Given the description of an element on the screen output the (x, y) to click on. 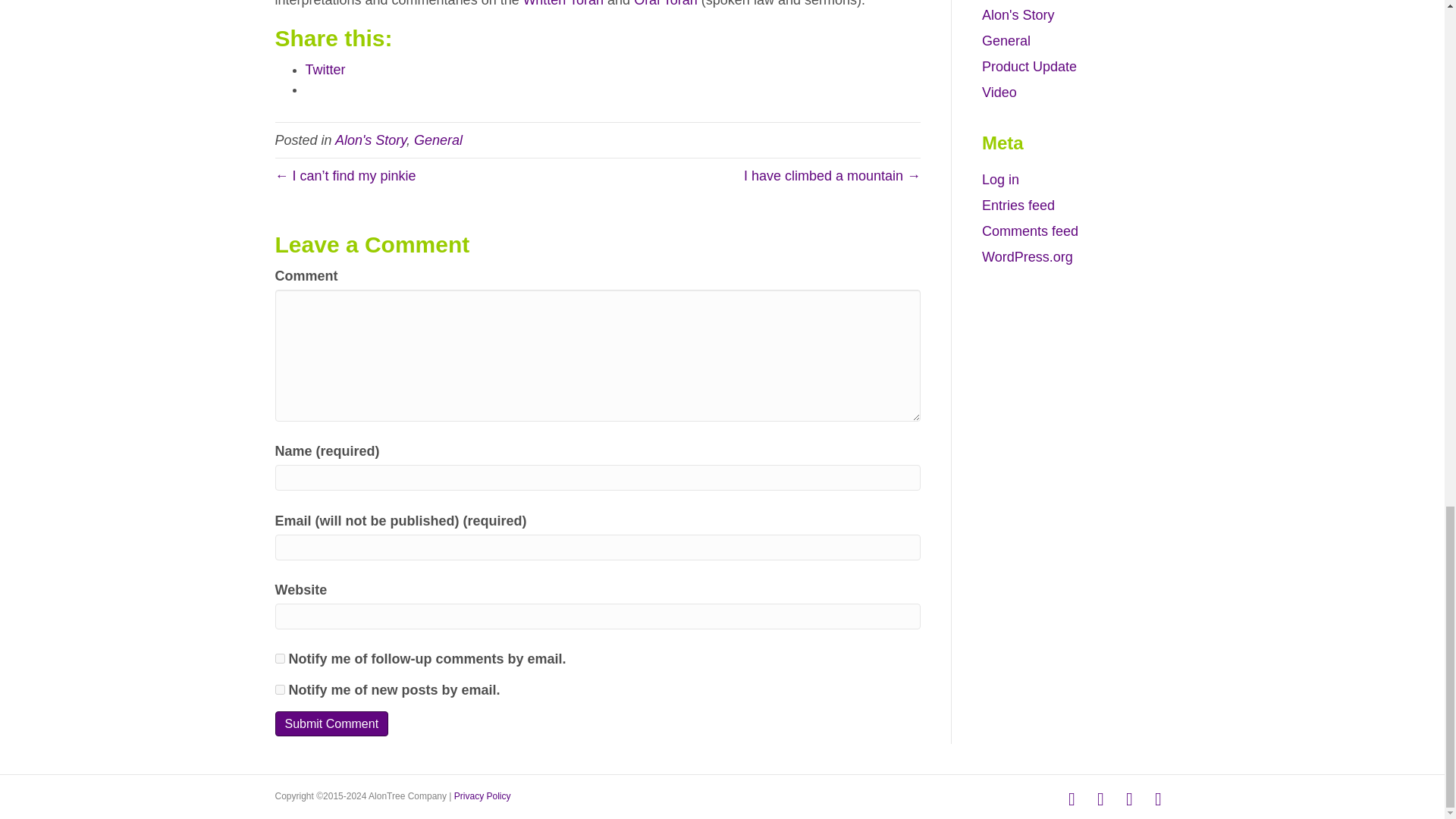
Oral Torah (665, 3)
Click to share on Twitter (324, 69)
Written Torah (563, 3)
General (438, 140)
Submit Comment (331, 723)
subscribe (279, 689)
subscribe (279, 658)
Twitter (324, 69)
Alon's Story (370, 140)
Submit Comment (331, 723)
